Given the description of an element on the screen output the (x, y) to click on. 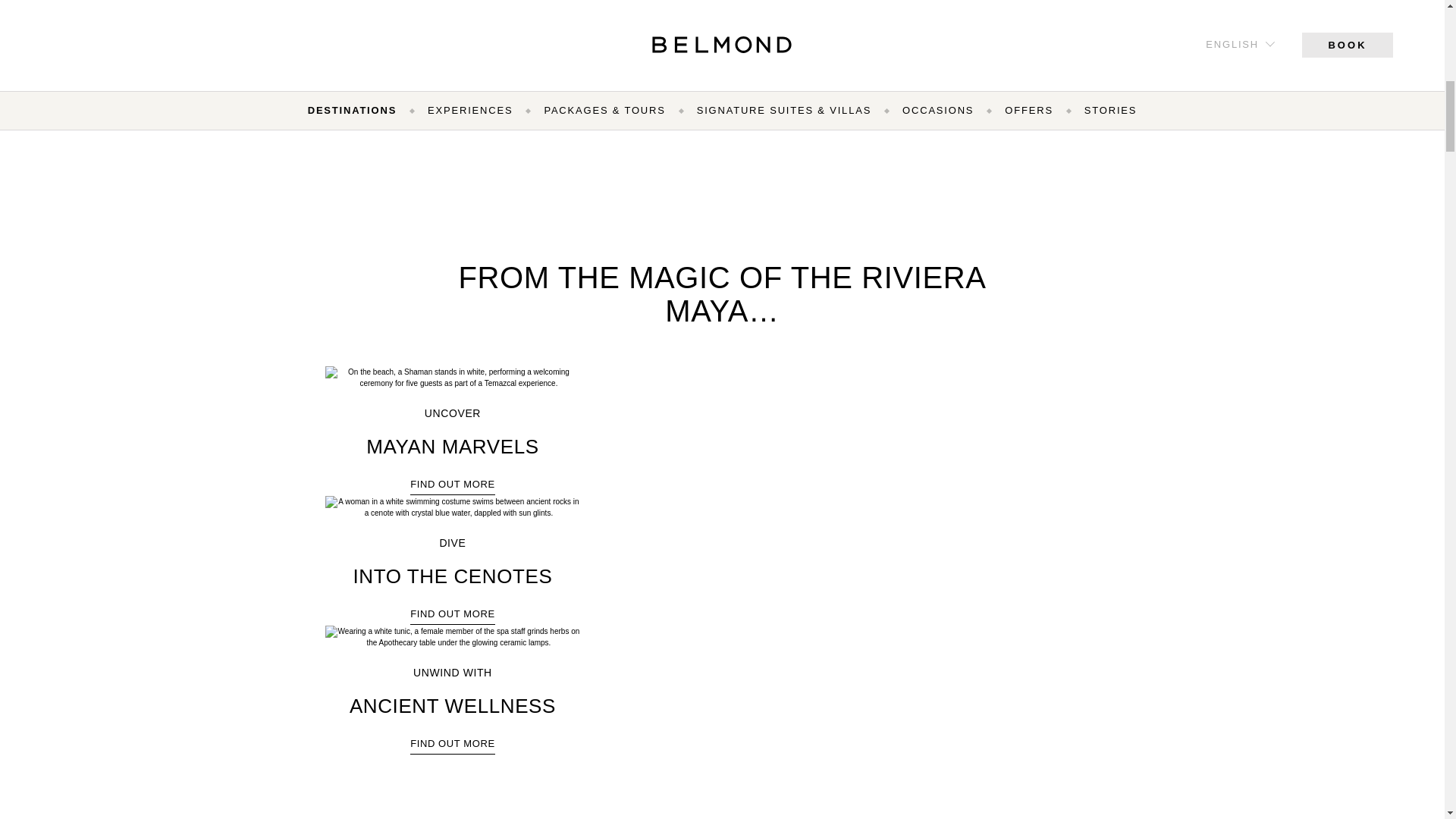
FIND OUT MORE (452, 484)
